Given the description of an element on the screen output the (x, y) to click on. 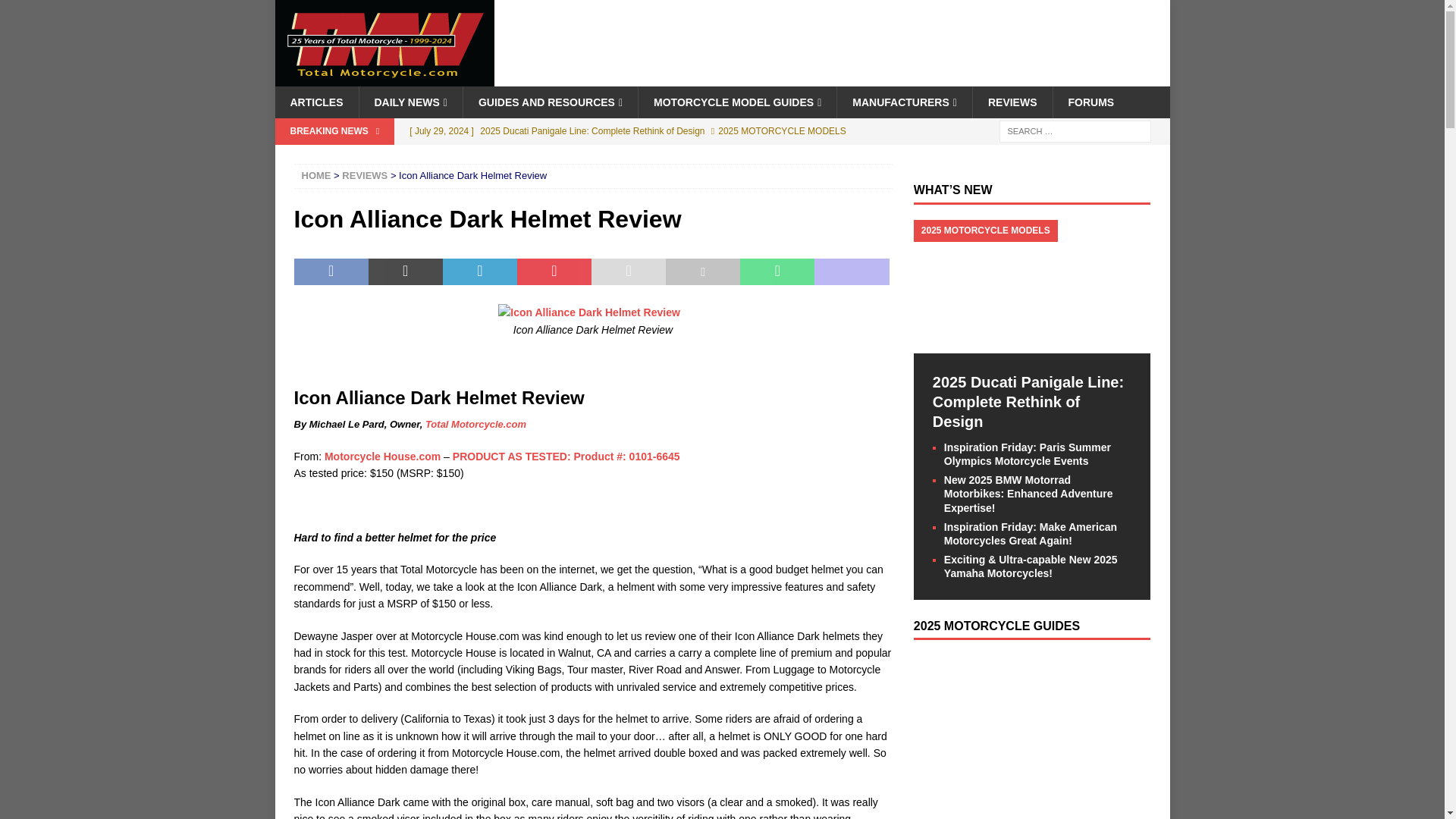
Tweet This Post (405, 271)
2025 Ducati Panigale Line: Complete Rethink of Design (628, 130)
Share on Facebook (331, 271)
